Given the description of an element on the screen output the (x, y) to click on. 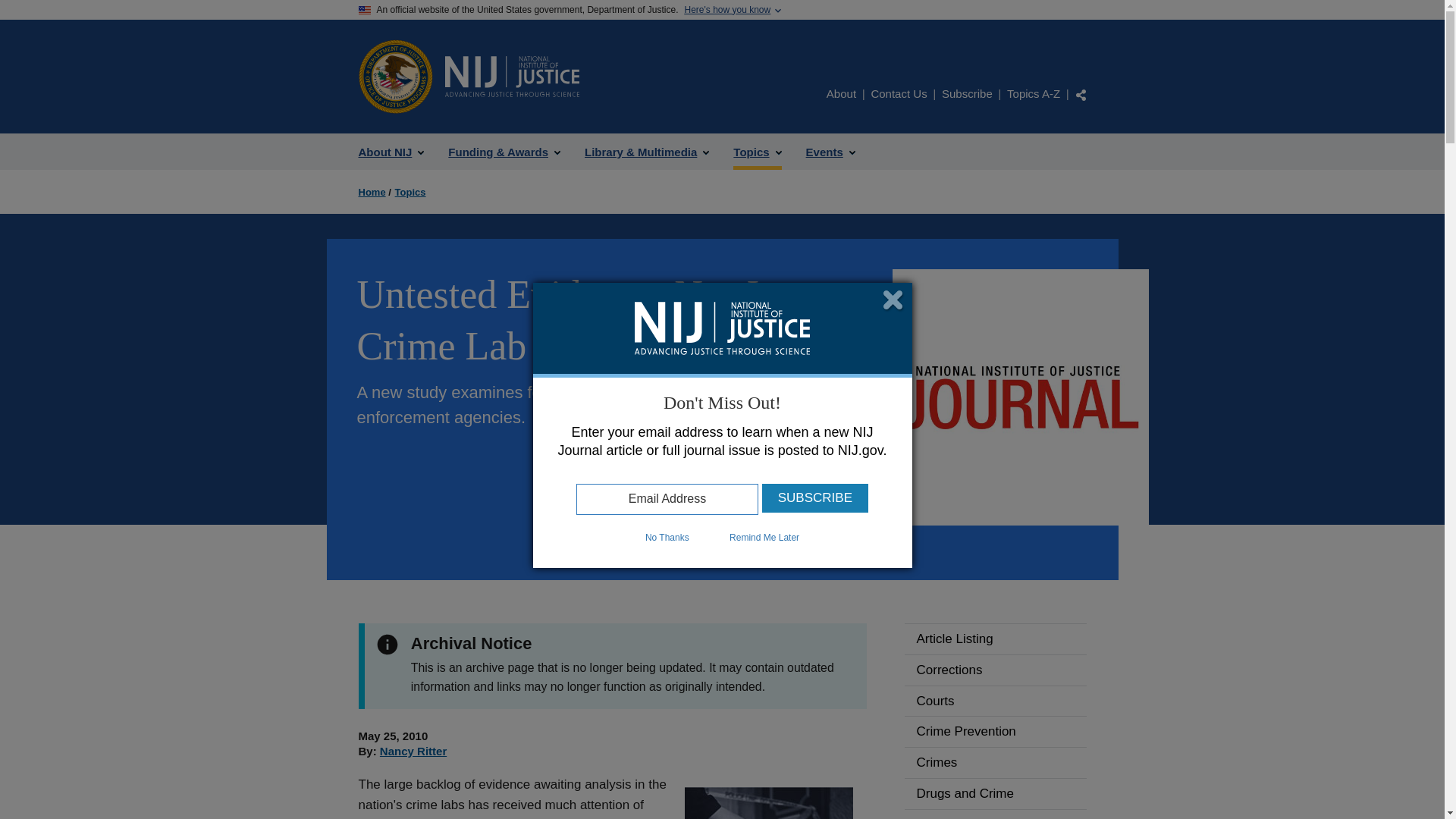
Office of Justice Programs (395, 76)
Subscribe (967, 93)
About (841, 93)
Subscribe (814, 498)
Close subscription dialog (893, 301)
Email Address (667, 499)
Nancy Ritter (413, 750)
untested.jpg (767, 803)
Topics (410, 192)
Contact Us (898, 93)
Home (511, 76)
Topics (756, 151)
Choose a social sharing platform (1080, 94)
Here's how you know (727, 9)
Home (371, 192)
